Given the description of an element on the screen output the (x, y) to click on. 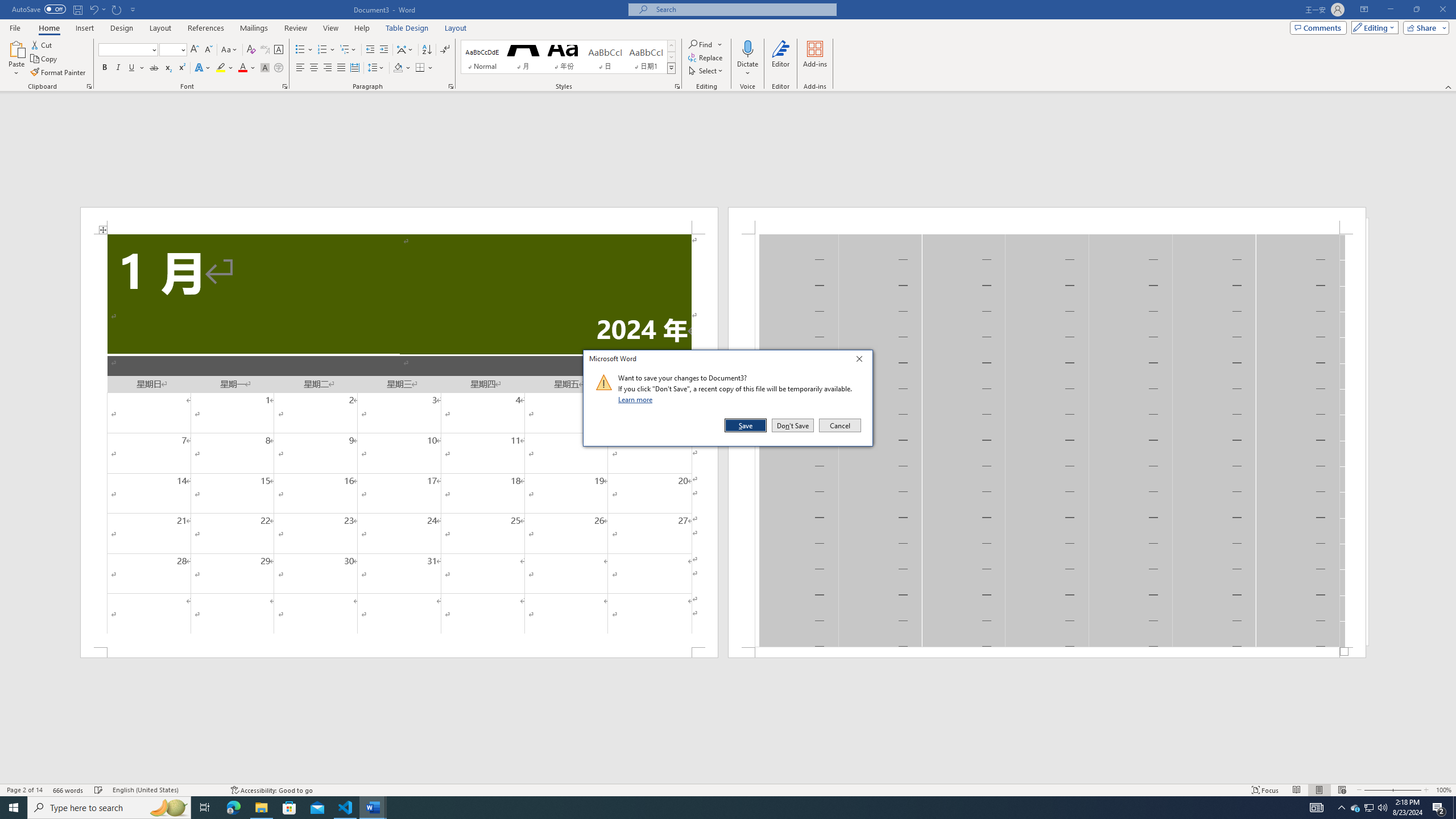
Show desktop (1454, 807)
Table Design (407, 28)
AutomationID: 4105 (1316, 807)
Spelling and Grammar Check Checking (98, 790)
Text Highlight Color (224, 67)
Cut (1368, 807)
Strikethrough (42, 44)
Paragraph... (154, 67)
Underline (450, 85)
Close (131, 67)
Dictate (862, 360)
Repeat Doc Close (747, 48)
